Given the description of an element on the screen output the (x, y) to click on. 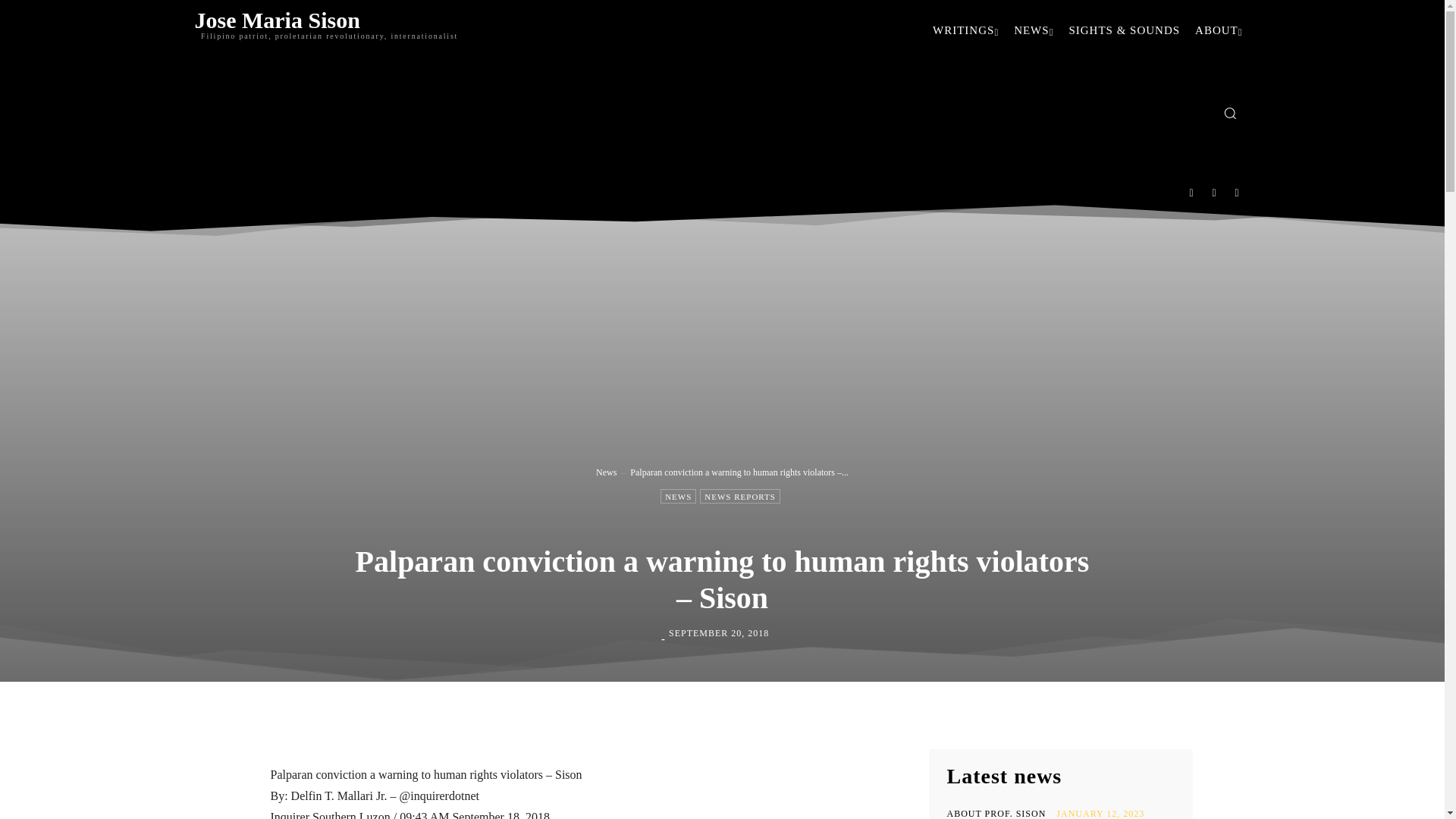
NEWS (678, 495)
Facebook (1191, 192)
WRITINGS (965, 30)
NEWS REPORTS (740, 495)
ABOUT (1218, 30)
View all posts in News (605, 471)
Twitter (1214, 192)
Youtube (1237, 192)
News (605, 471)
